Given the description of an element on the screen output the (x, y) to click on. 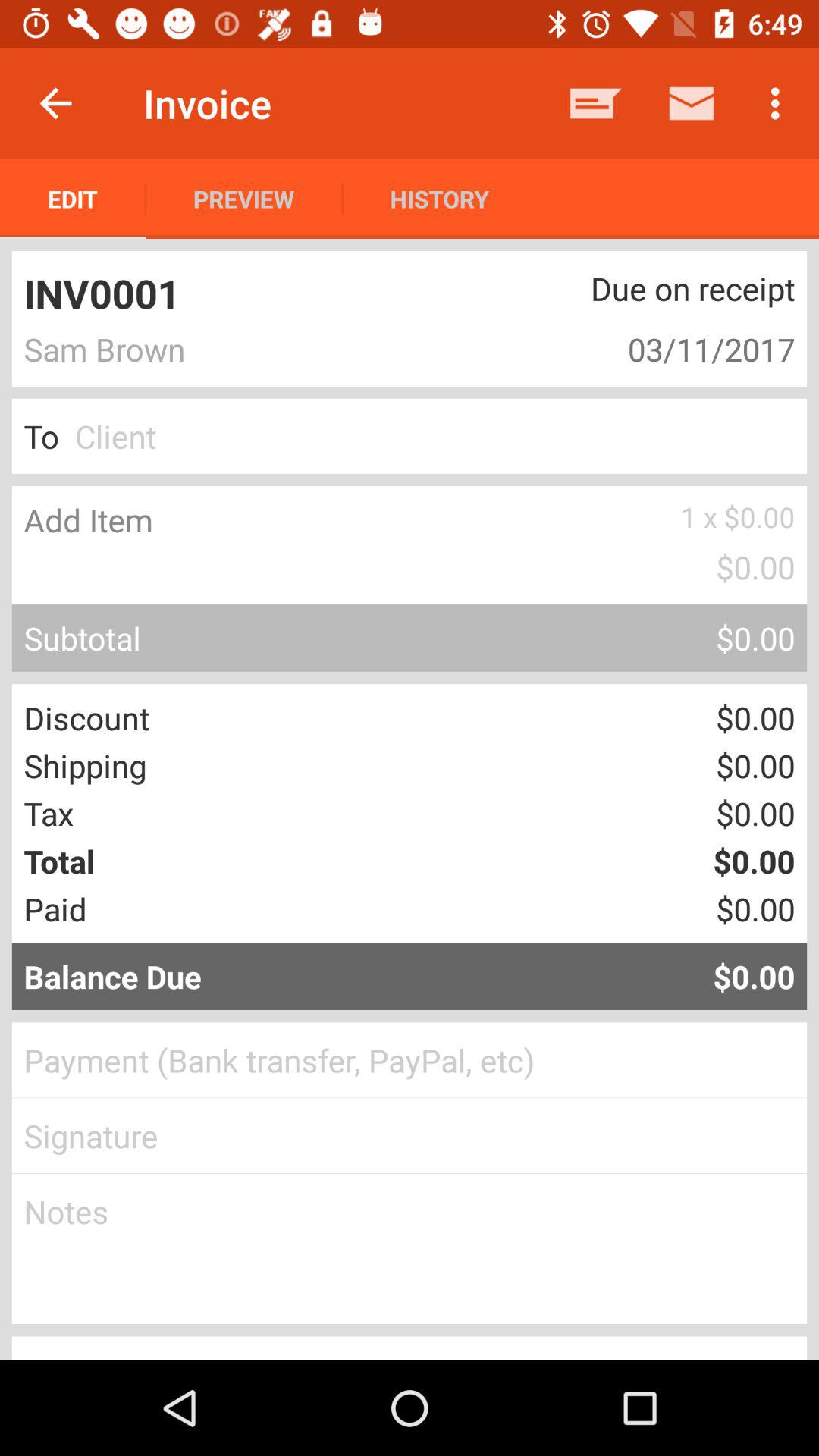
click app next to the history app (595, 103)
